Given the description of an element on the screen output the (x, y) to click on. 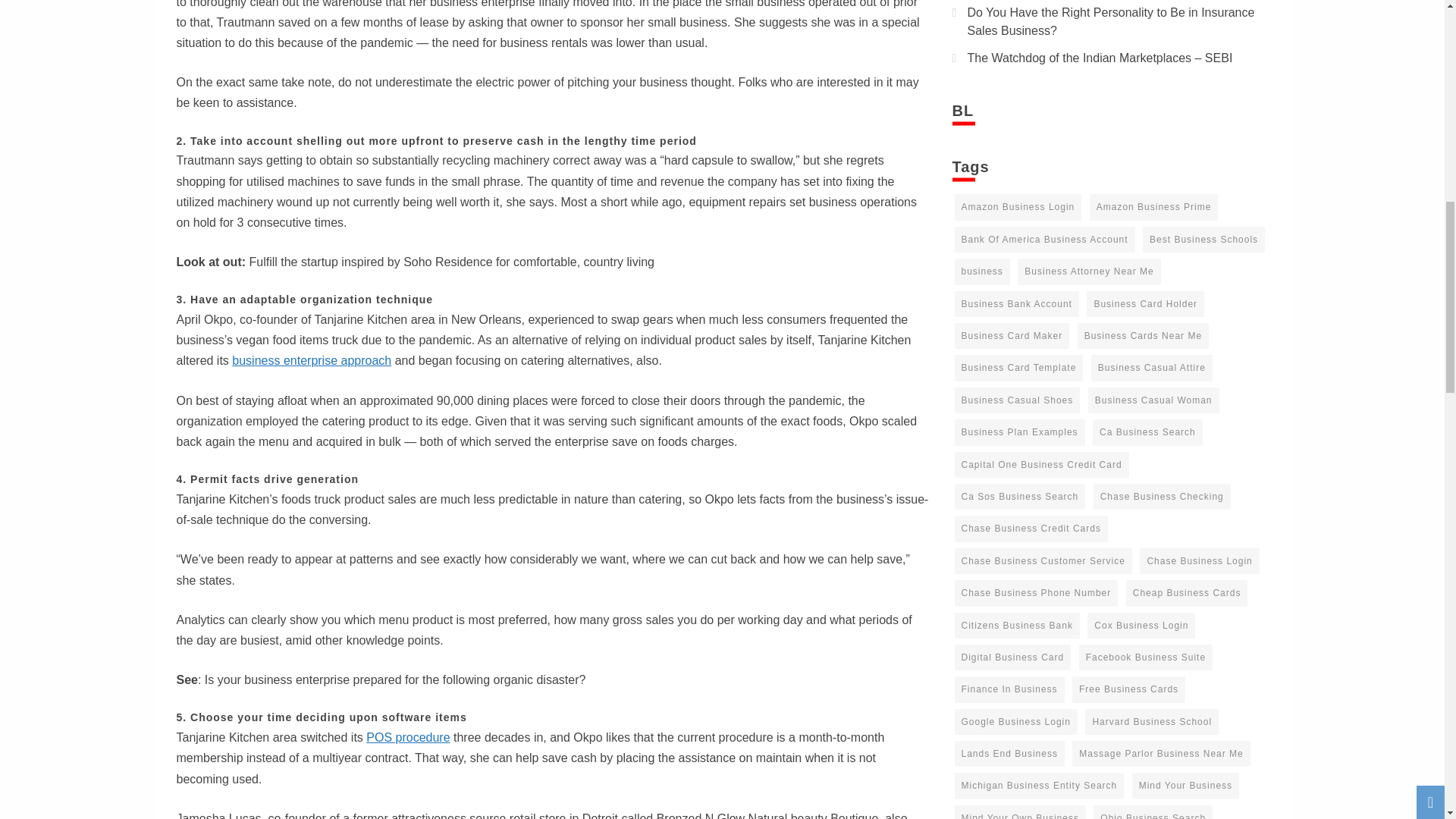
POS procedure (407, 737)
business enterprise approach (311, 359)
